Given the description of an element on the screen output the (x, y) to click on. 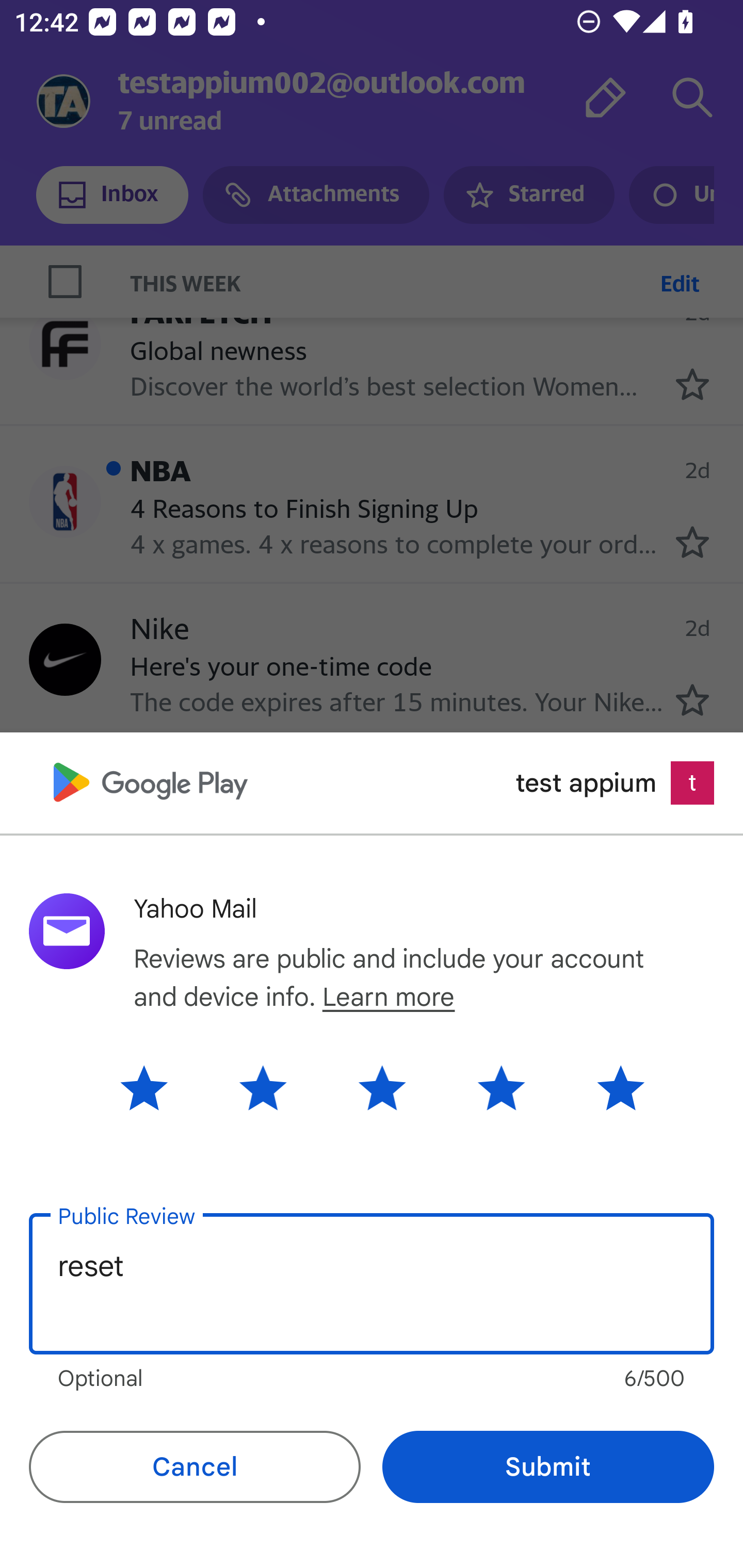
First star selected (159, 1087)
Second star selected (262, 1087)
Third star selected (381, 1087)
Fourth star selected (500, 1087)
Fifth star selected (604, 1087)
reset
 (371, 1283)
Cancel (194, 1466)
Submit (548, 1466)
